Given the description of an element on the screen output the (x, y) to click on. 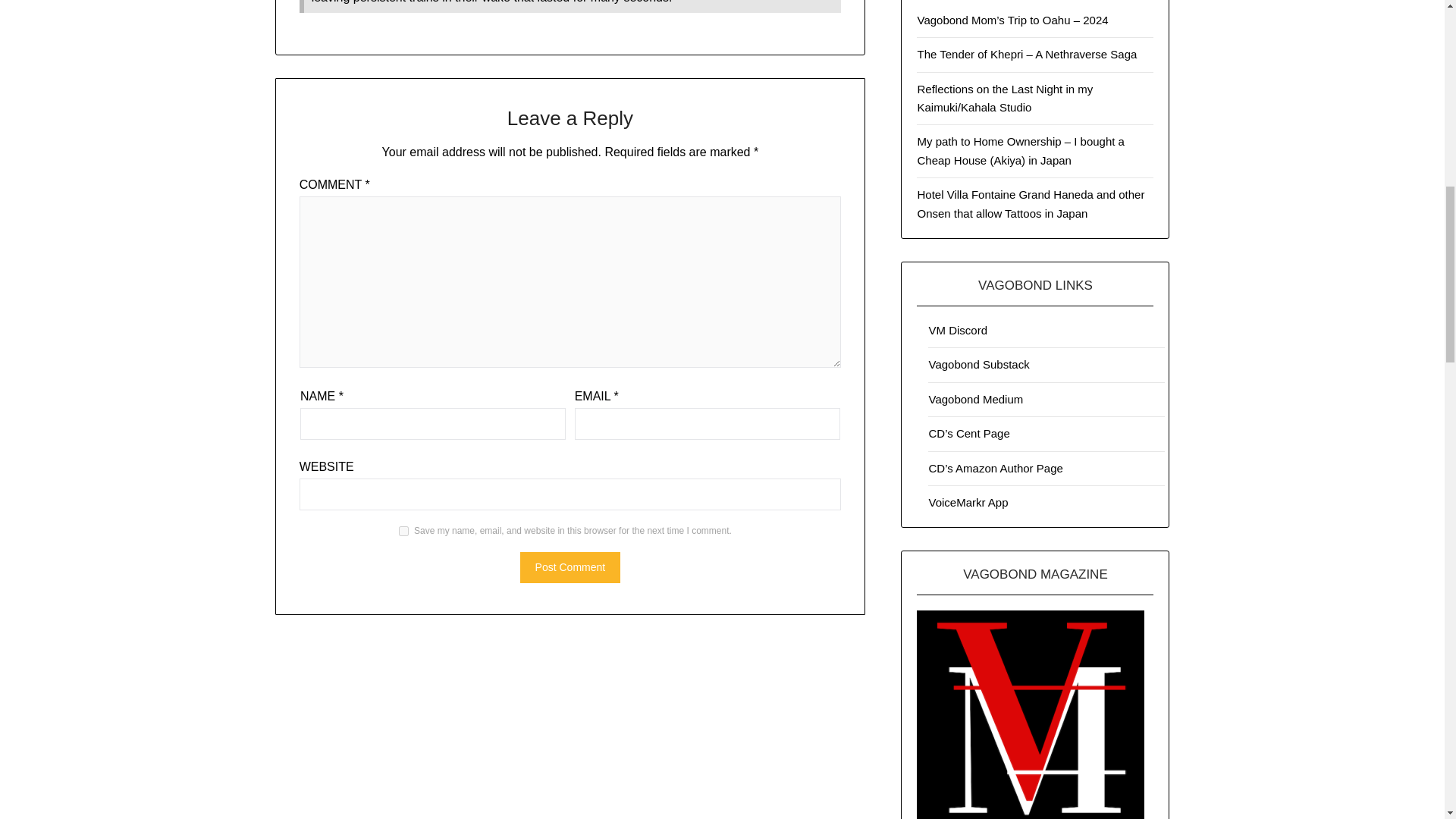
Vagobond Medium (975, 399)
VM Discord (957, 329)
Post Comment (570, 567)
VoiceMarkr App (967, 502)
Vagobond Substack (978, 364)
yes (403, 531)
Post Comment (570, 567)
